Given the description of an element on the screen output the (x, y) to click on. 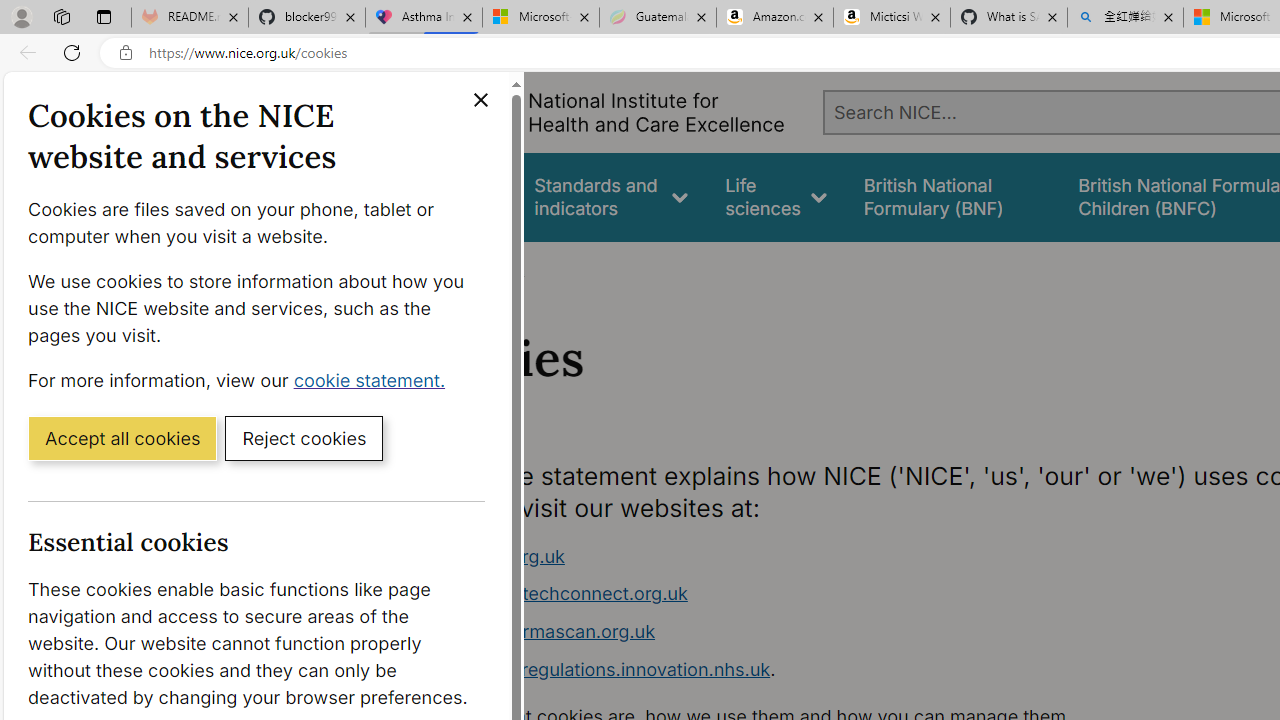
cookie statement. (Opens in a new window) (373, 379)
www.nice.org.uk (796, 556)
www.ukpharmascan.org.uk (538, 631)
Life sciences (776, 196)
Asthma Inhalers: Names and Types (424, 17)
About (498, 268)
www.ukpharmascan.org.uk (796, 632)
www.digitalregulations.innovation.nhs.uk. (796, 669)
Reject cookies (304, 437)
false (952, 196)
